Given the description of an element on the screen output the (x, y) to click on. 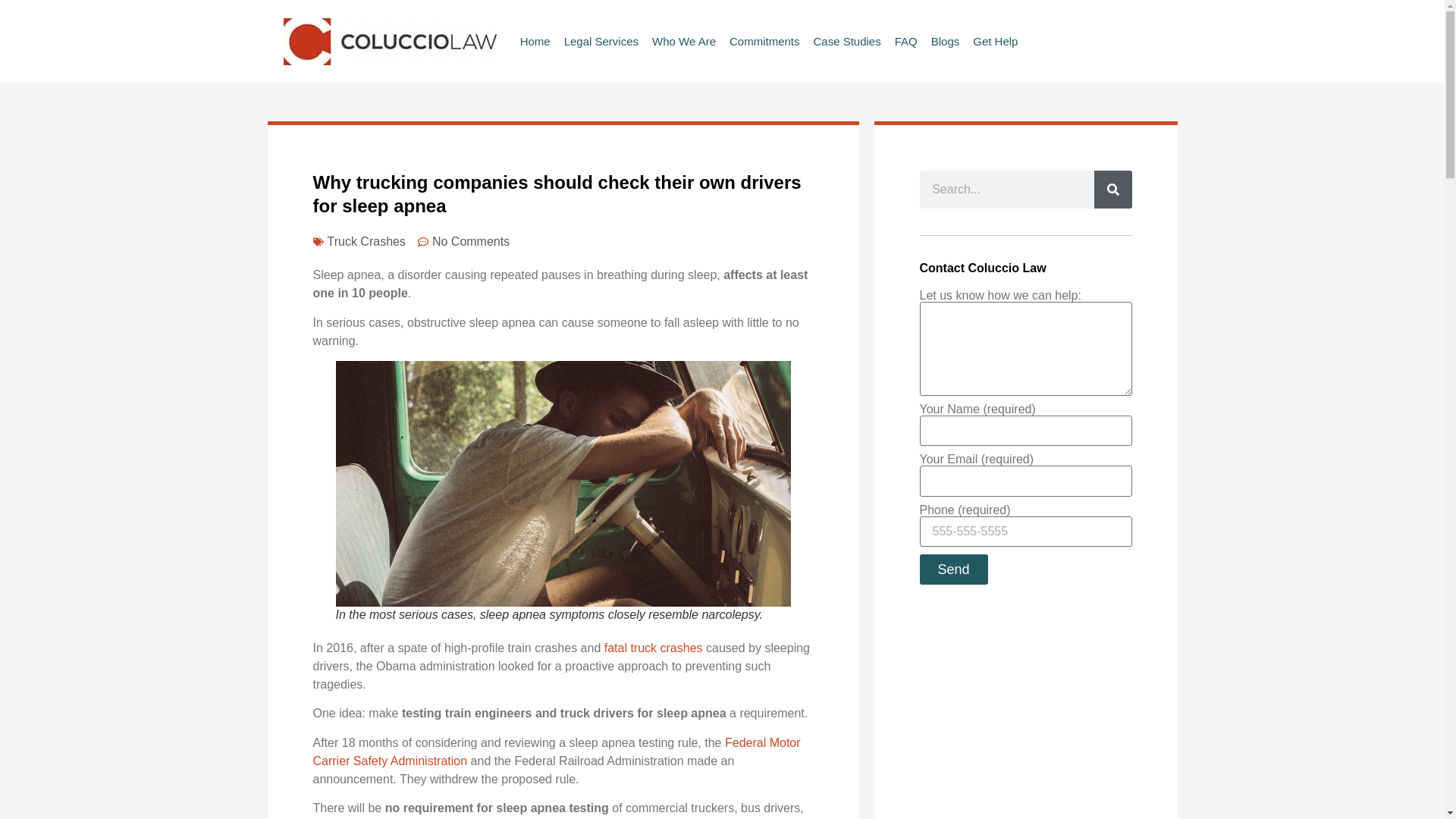
Commitments (764, 41)
Get Help (994, 41)
Blogs (945, 41)
Legal Services (601, 41)
Case Studies (846, 41)
Home (534, 41)
Who We Are (684, 41)
